Given the description of an element on the screen output the (x, y) to click on. 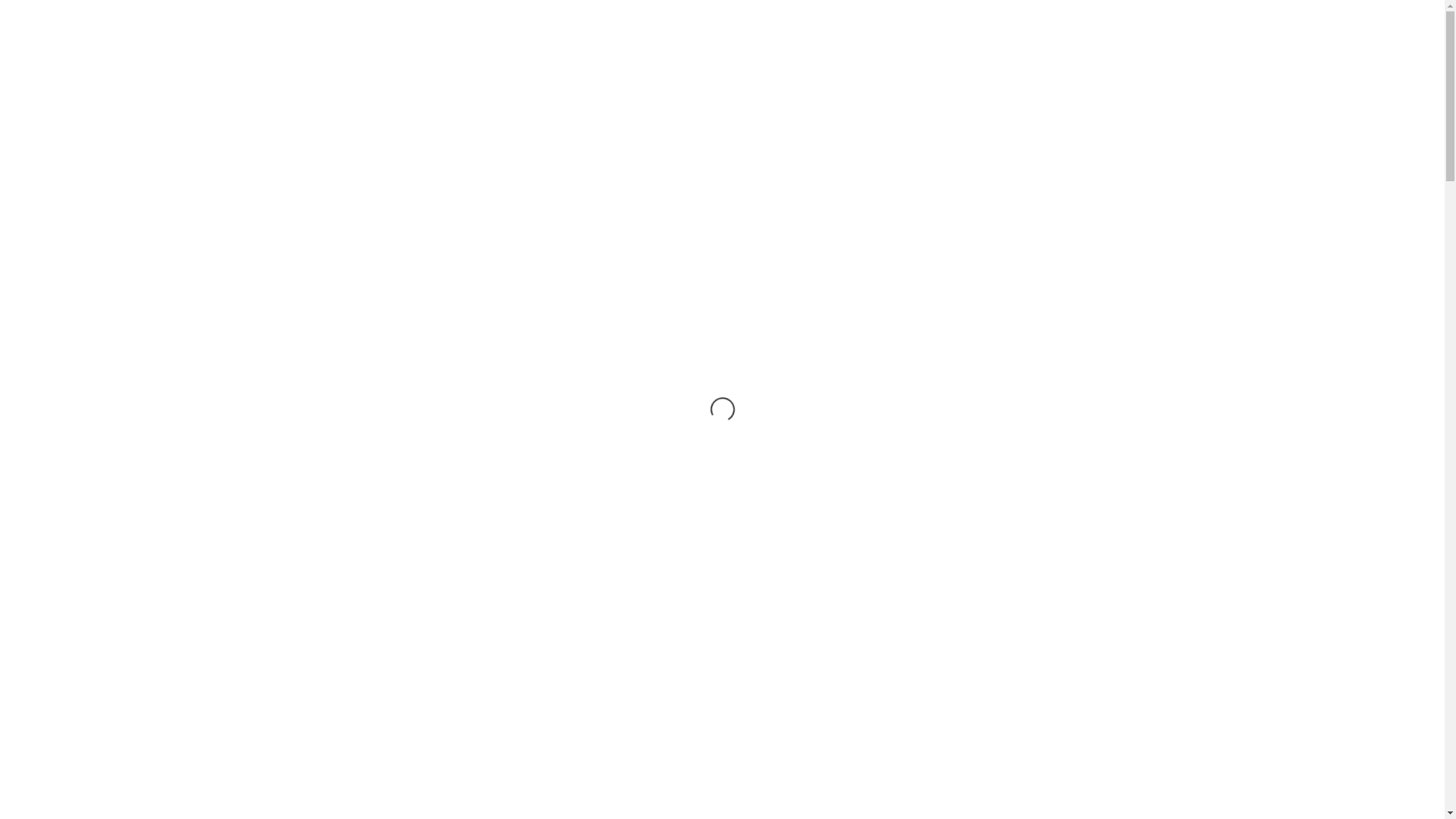
PROJECTS Element type: text (919, 49)
CONTACT Element type: text (1229, 49)
SEE MORE Element type: text (457, 563)
Facebook Element type: hover (1371, 19)
IMPRINT Element type: text (1311, 49)
Twitter Element type: hover (1379, 19)
ALLOW Element type: text (896, 793)
3XKO Element type: hover (91, 49)
MEDIA Element type: text (1152, 49)
Architizer Element type: hover (1408, 15)
ABOUT Element type: text (1083, 49)
Linkedin Element type: hover (1394, 19)
Instagram Element type: hover (1386, 19)
SERVICES Element type: text (1006, 49)
HOME Element type: text (841, 49)
